Given the description of an element on the screen output the (x, y) to click on. 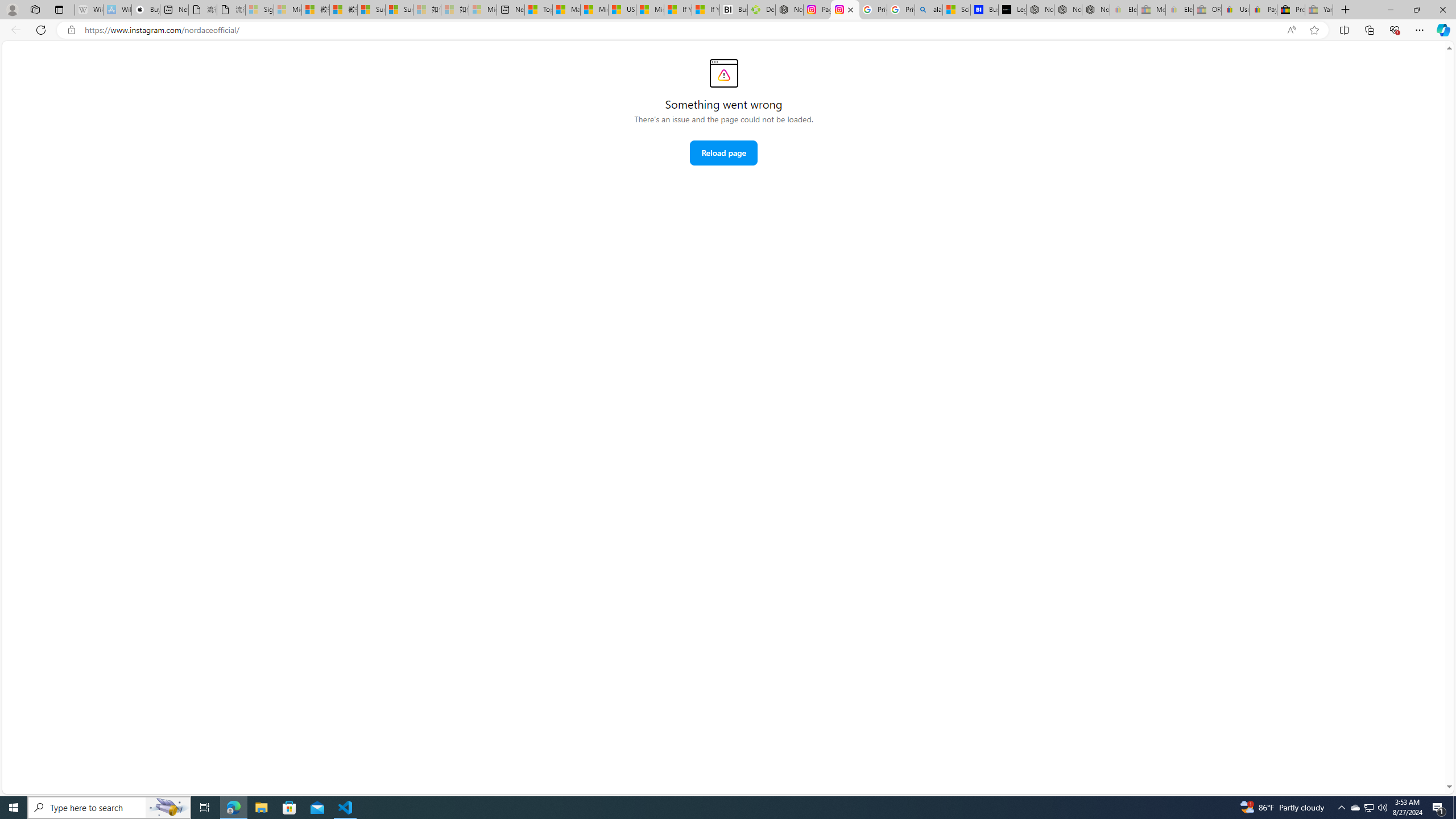
Error (723, 72)
Marine life - MSN (566, 9)
Reload page (723, 152)
Yard, Garden & Outdoor Living - Sleeping (1319, 9)
alabama high school quarterback dies - Search (928, 9)
Top Stories - MSN (538, 9)
